Given the description of an element on the screen output the (x, y) to click on. 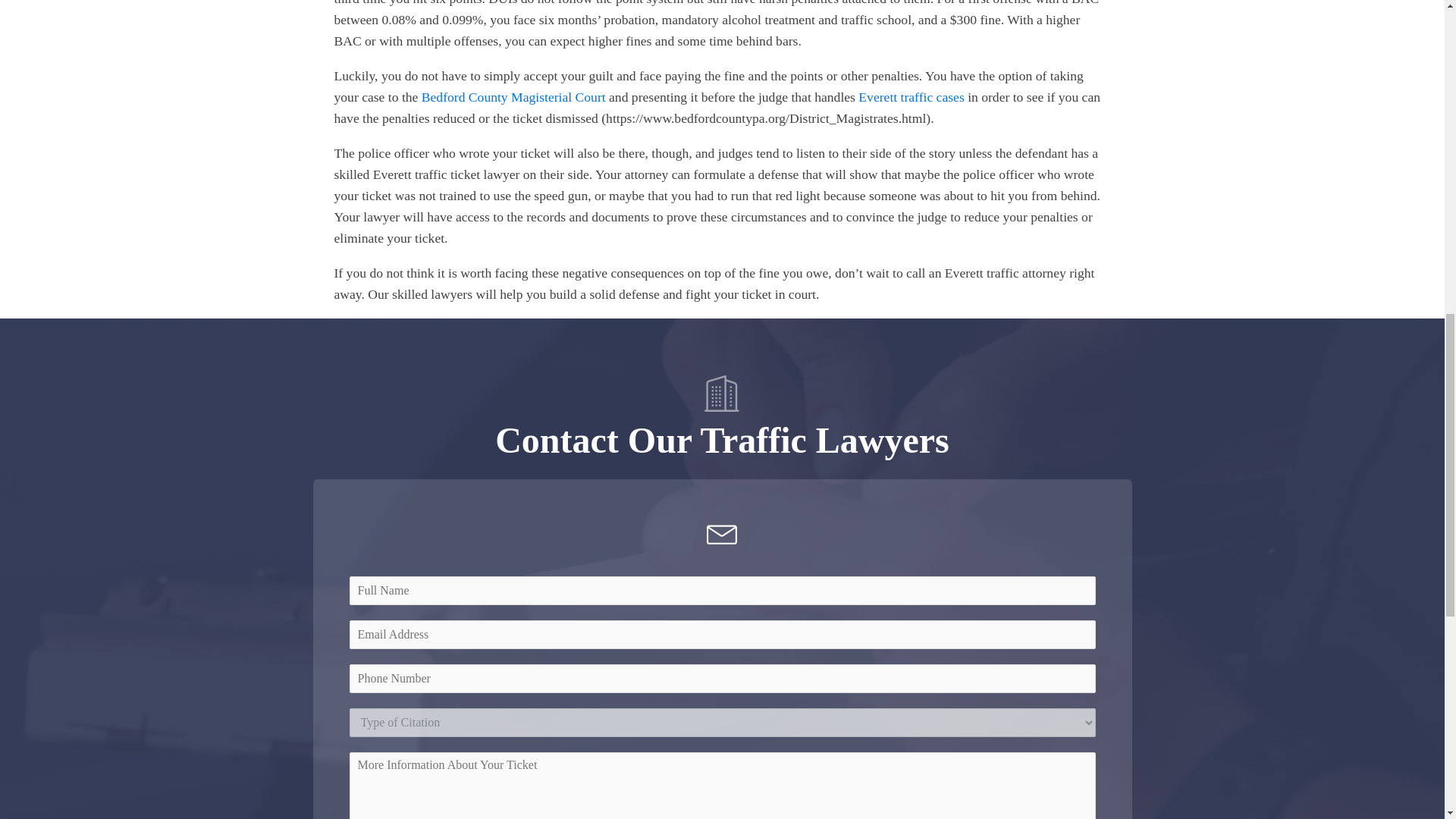
Bedford County Magisterial Court (513, 96)
Everett traffic cases (911, 96)
